Given the description of an element on the screen output the (x, y) to click on. 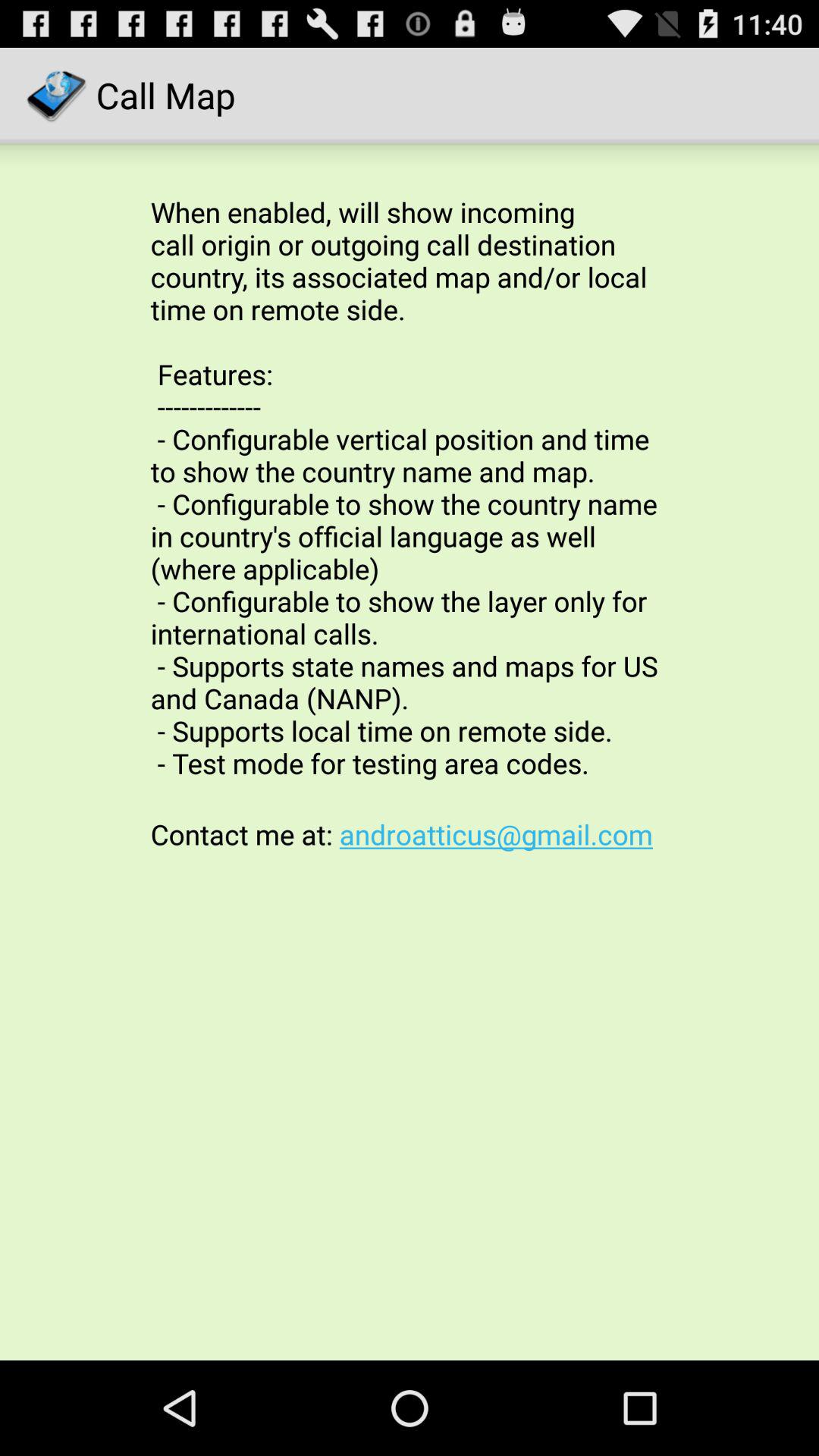
open the app below the when enabled will icon (409, 834)
